Given the description of an element on the screen output the (x, y) to click on. 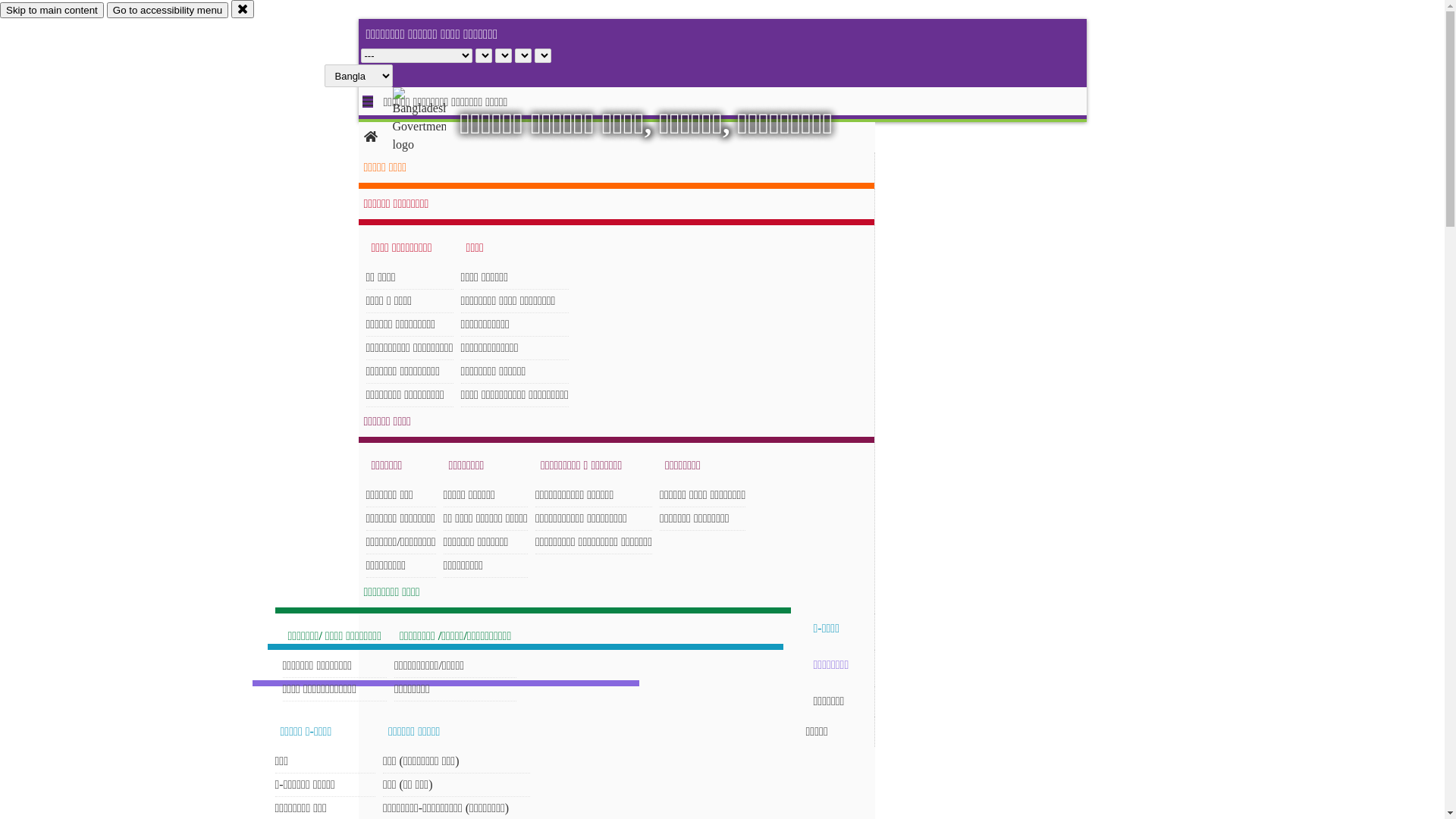

                
             Element type: hover (431, 120)
Go to accessibility menu Element type: text (167, 10)
close Element type: hover (242, 9)
Skip to main content Element type: text (51, 10)
